Given the description of an element on the screen output the (x, y) to click on. 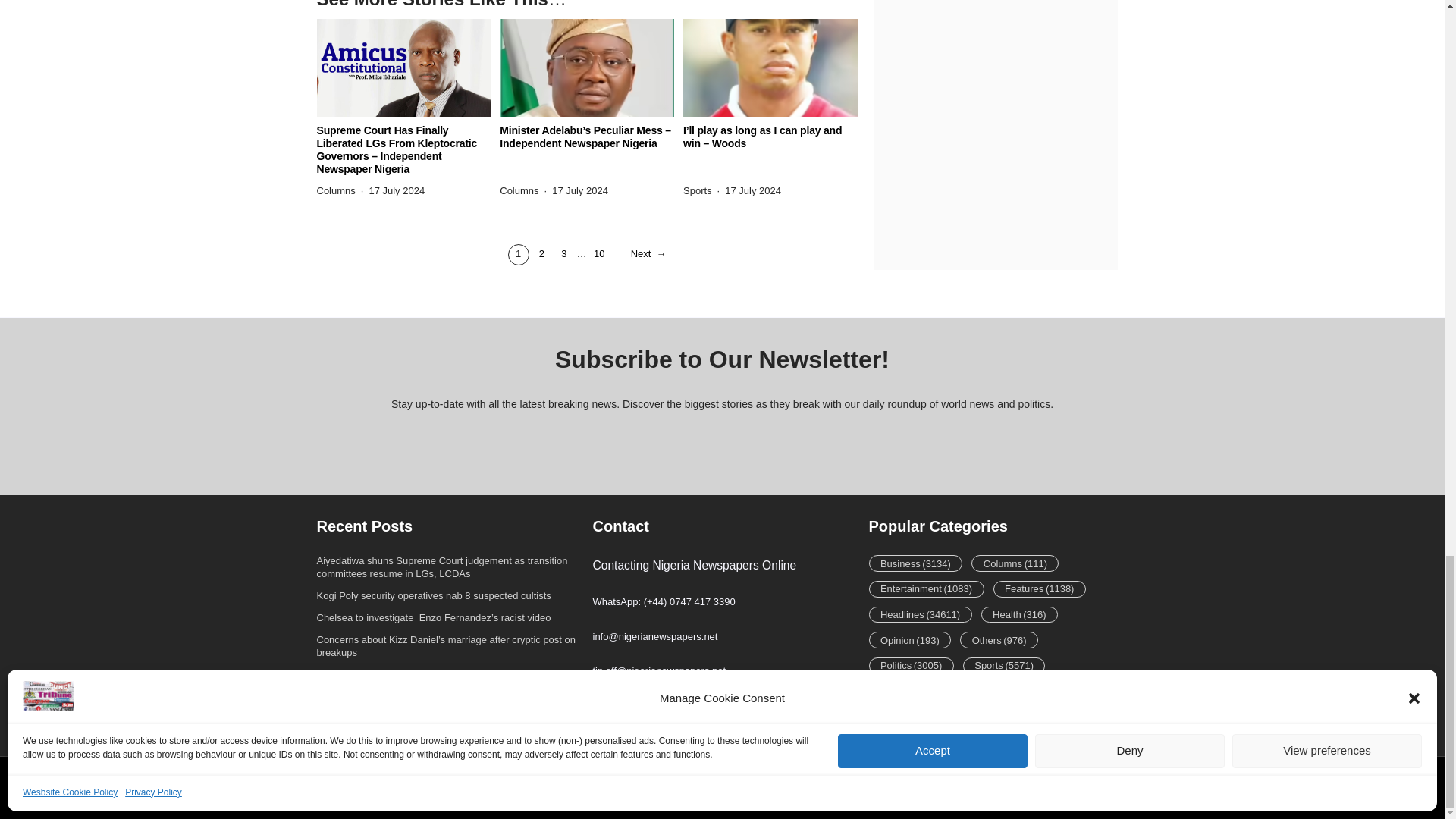
Columns (518, 190)
Columns (336, 190)
